Given the description of an element on the screen output the (x, y) to click on. 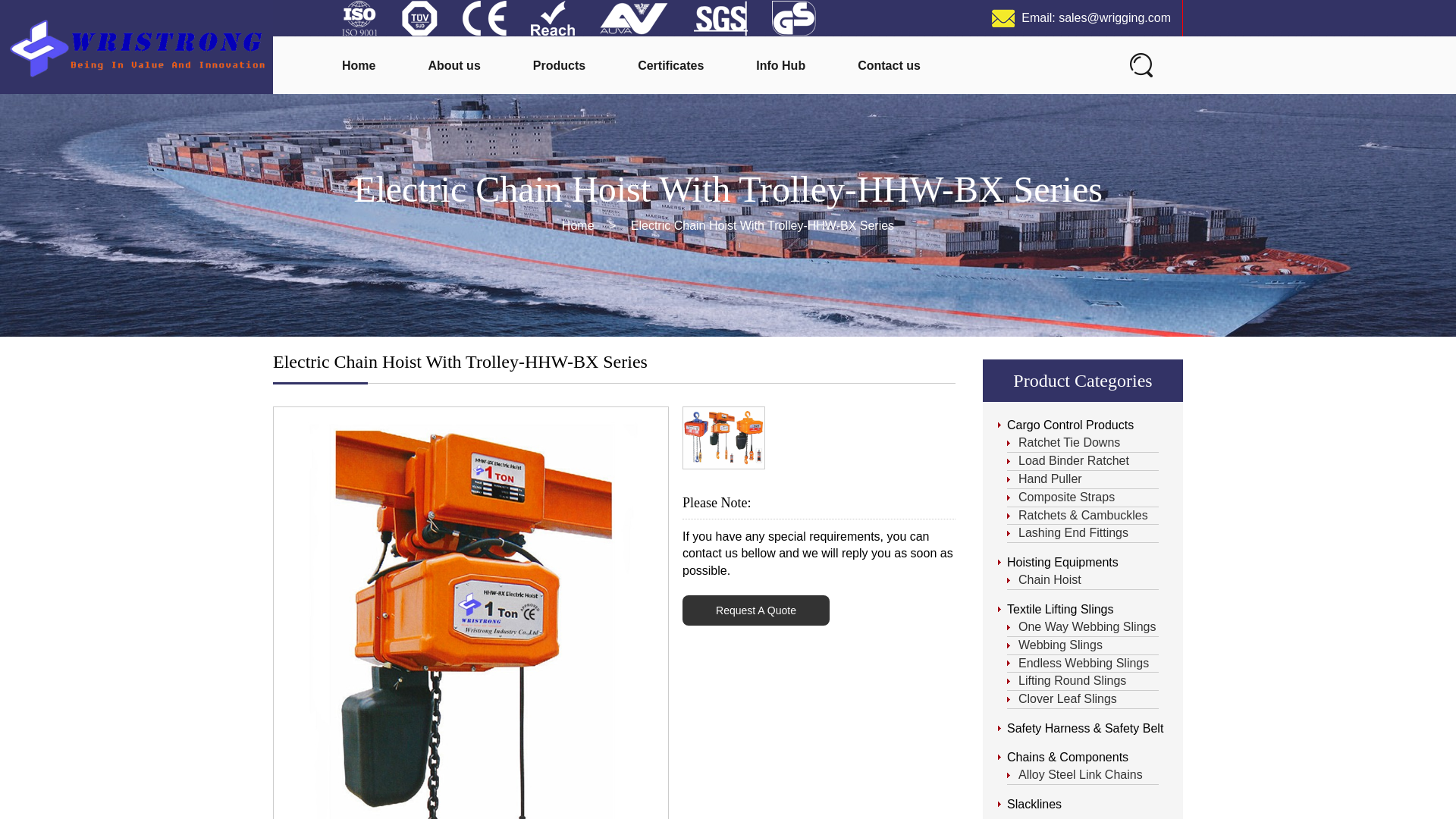
Products (558, 65)
Home (577, 225)
Search product (1141, 64)
About us (453, 65)
Certificates (670, 65)
Electric Chain Hoist With Trolley-HHW-BX Series (762, 225)
Home (358, 65)
Return Home (136, 47)
Electric Chain Hoist With Trolley-HHW-BX Series (471, 712)
Info Hub (780, 65)
